Given the description of an element on the screen output the (x, y) to click on. 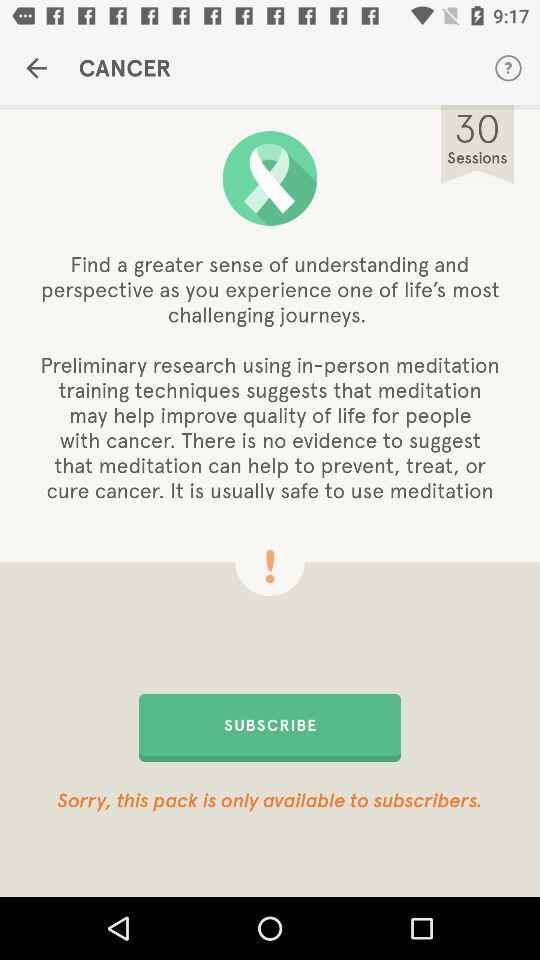
choose the subscribe icon (269, 727)
